Given the description of an element on the screen output the (x, y) to click on. 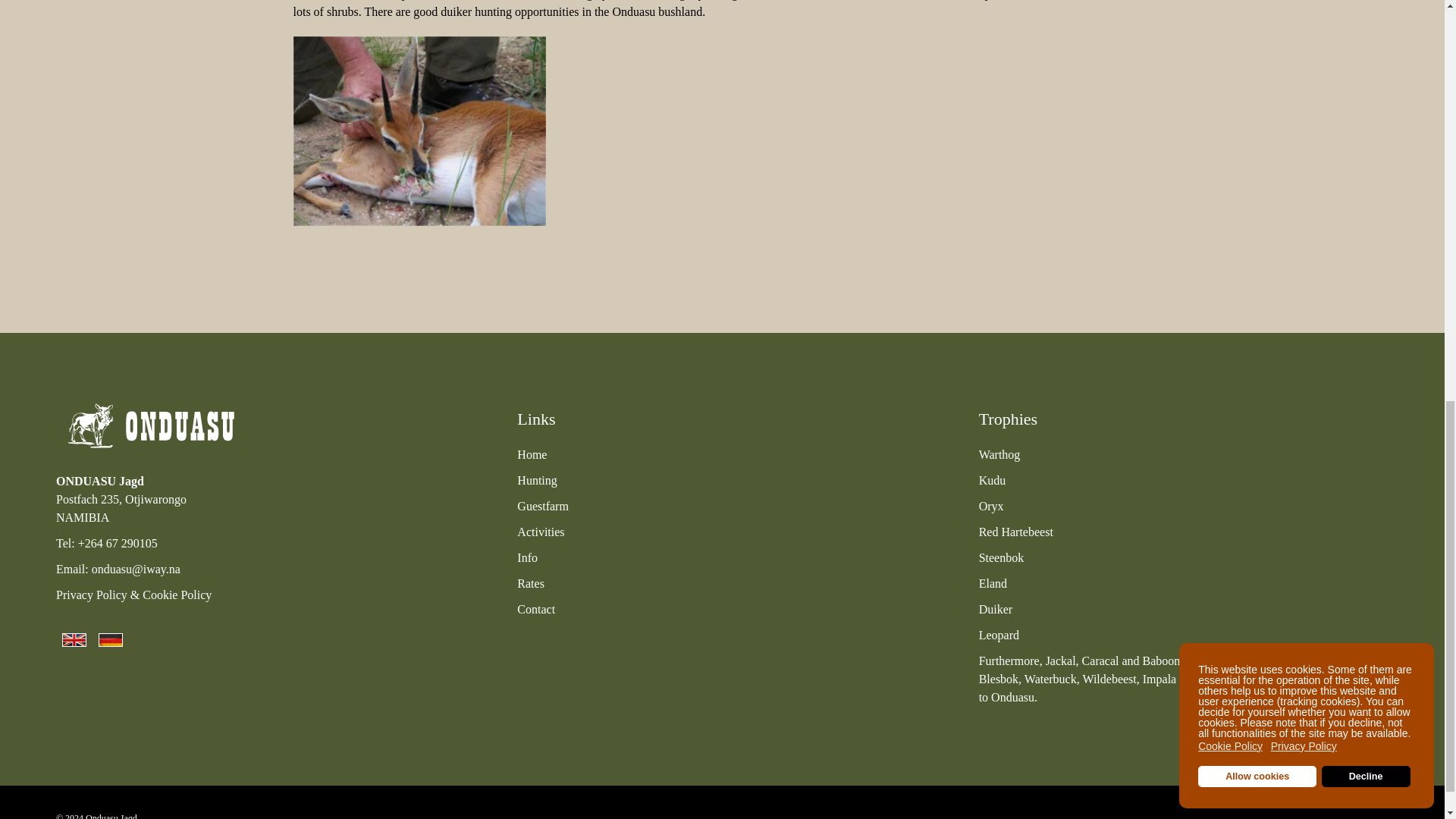
Home (531, 454)
Cookie Policy (176, 594)
Guestfarm (542, 505)
Info (526, 557)
Privacy Policy (92, 594)
Activities (540, 531)
Hunting (536, 480)
